Given the description of an element on the screen output the (x, y) to click on. 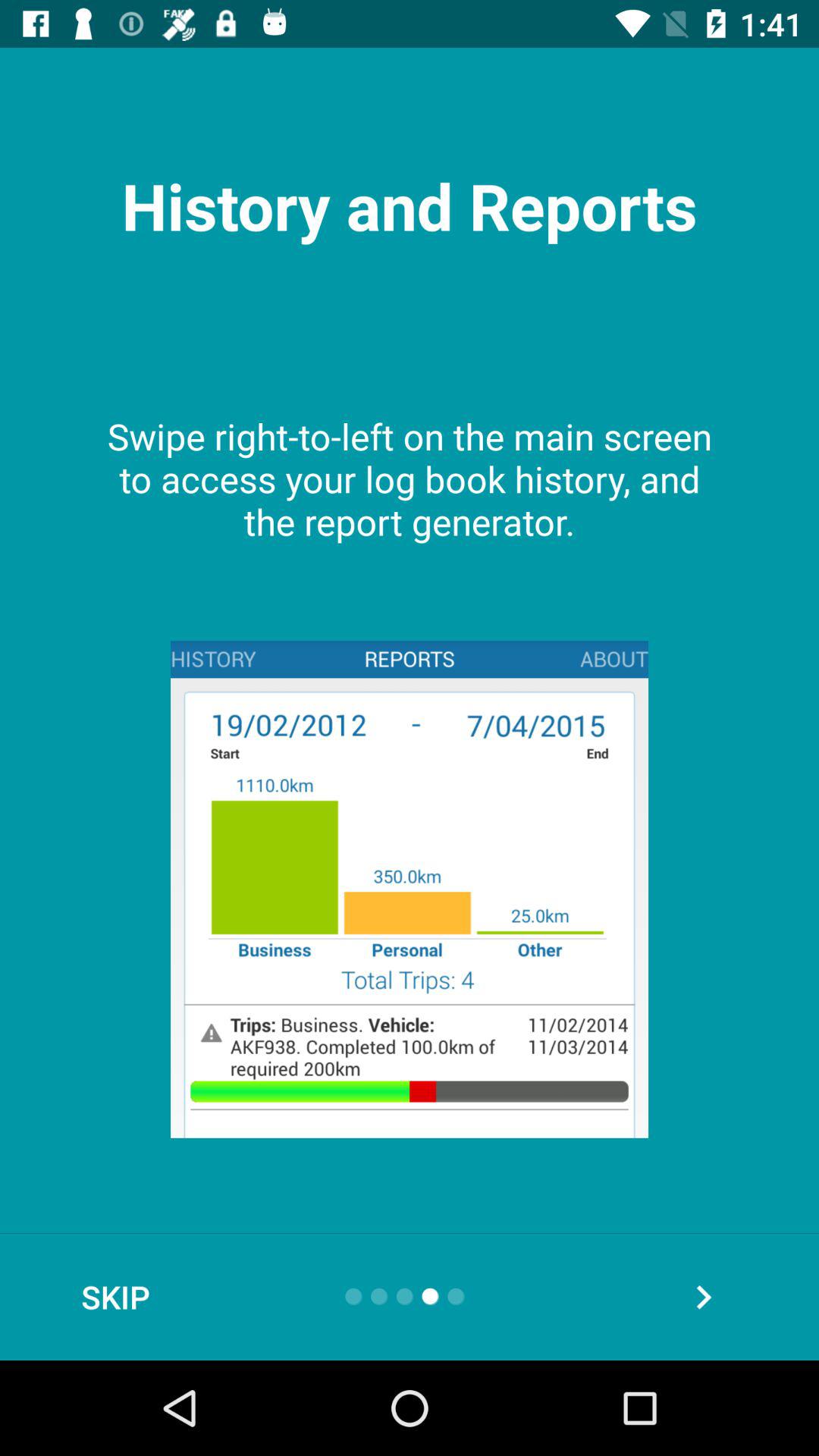
click icon at the bottom right corner (703, 1296)
